Given the description of an element on the screen output the (x, y) to click on. 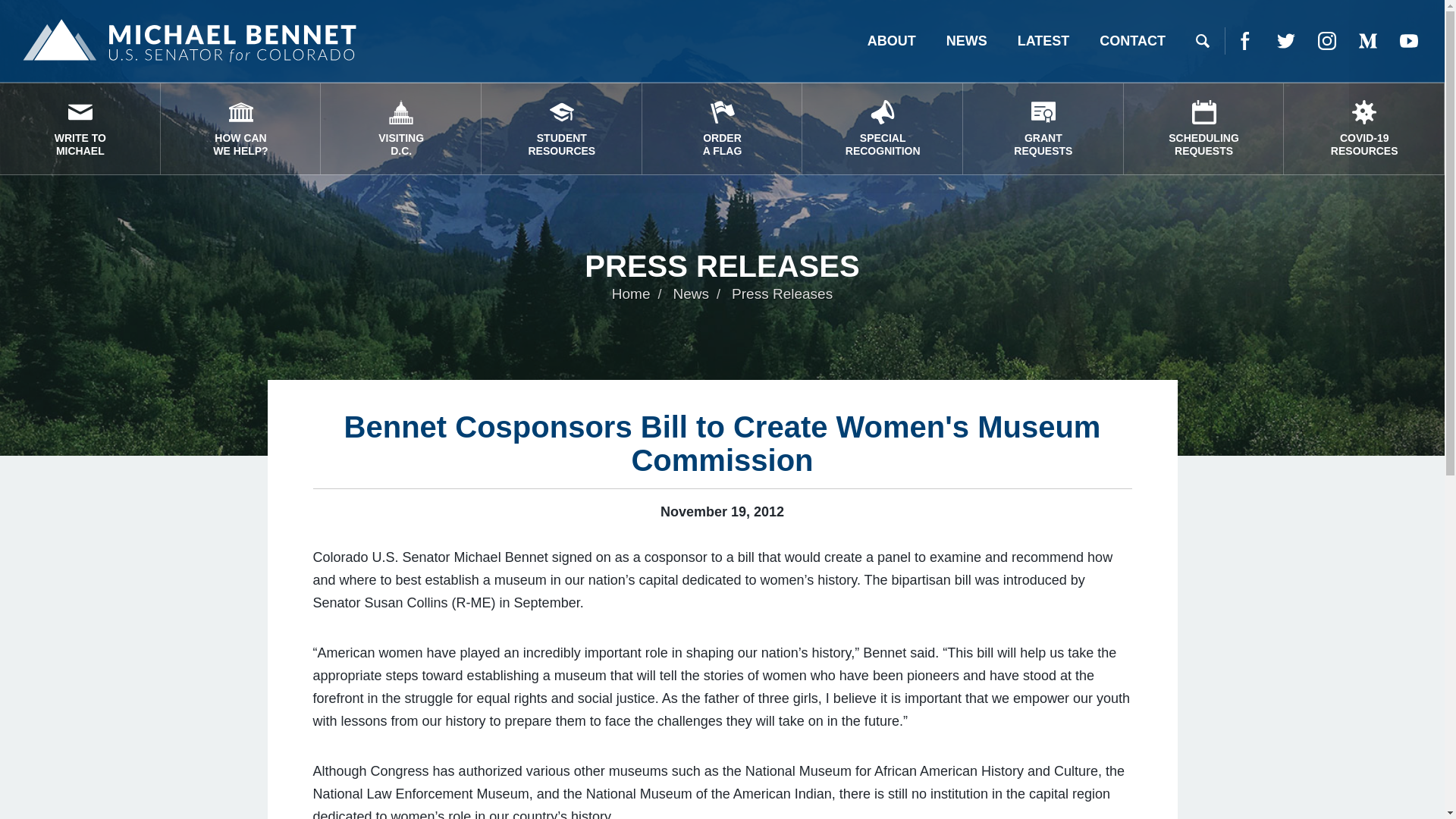
LATEST (1043, 40)
Twitter Icon (1204, 128)
Medium (1285, 40)
Twitter (1368, 40)
Facebook Icon (1285, 40)
Facebook (882, 128)
Instagram Icon (240, 128)
Medium Icon (1244, 40)
Search Icon (1244, 40)
Instagram (1326, 40)
